Given the description of an element on the screen output the (x, y) to click on. 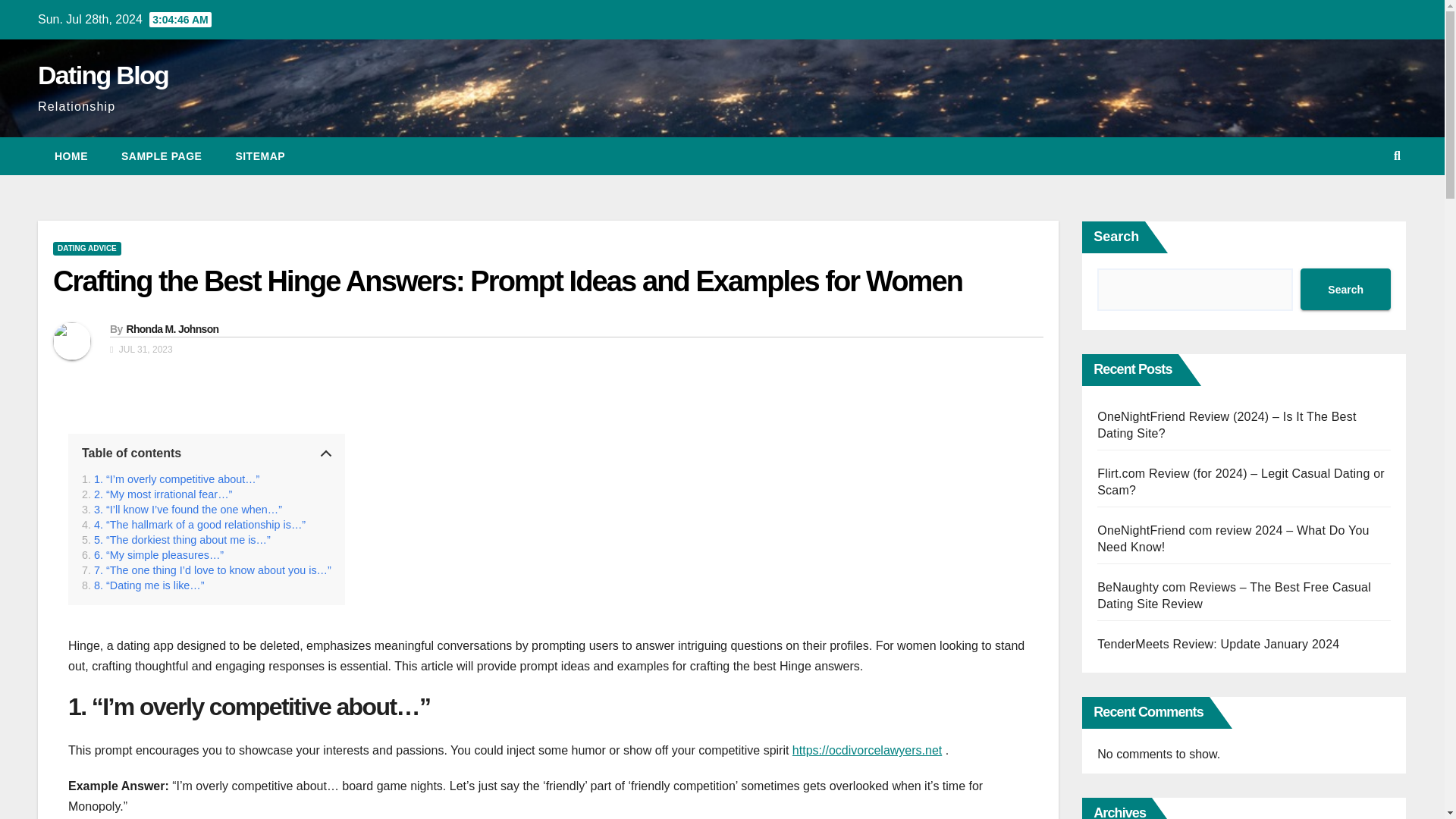
HOME (70, 156)
DATING ADVICE (86, 248)
Home (70, 156)
Dating Blog (102, 74)
SAMPLE PAGE (161, 156)
SITEMAP (259, 156)
Rhonda M. Johnson (171, 328)
